Given the description of an element on the screen output the (x, y) to click on. 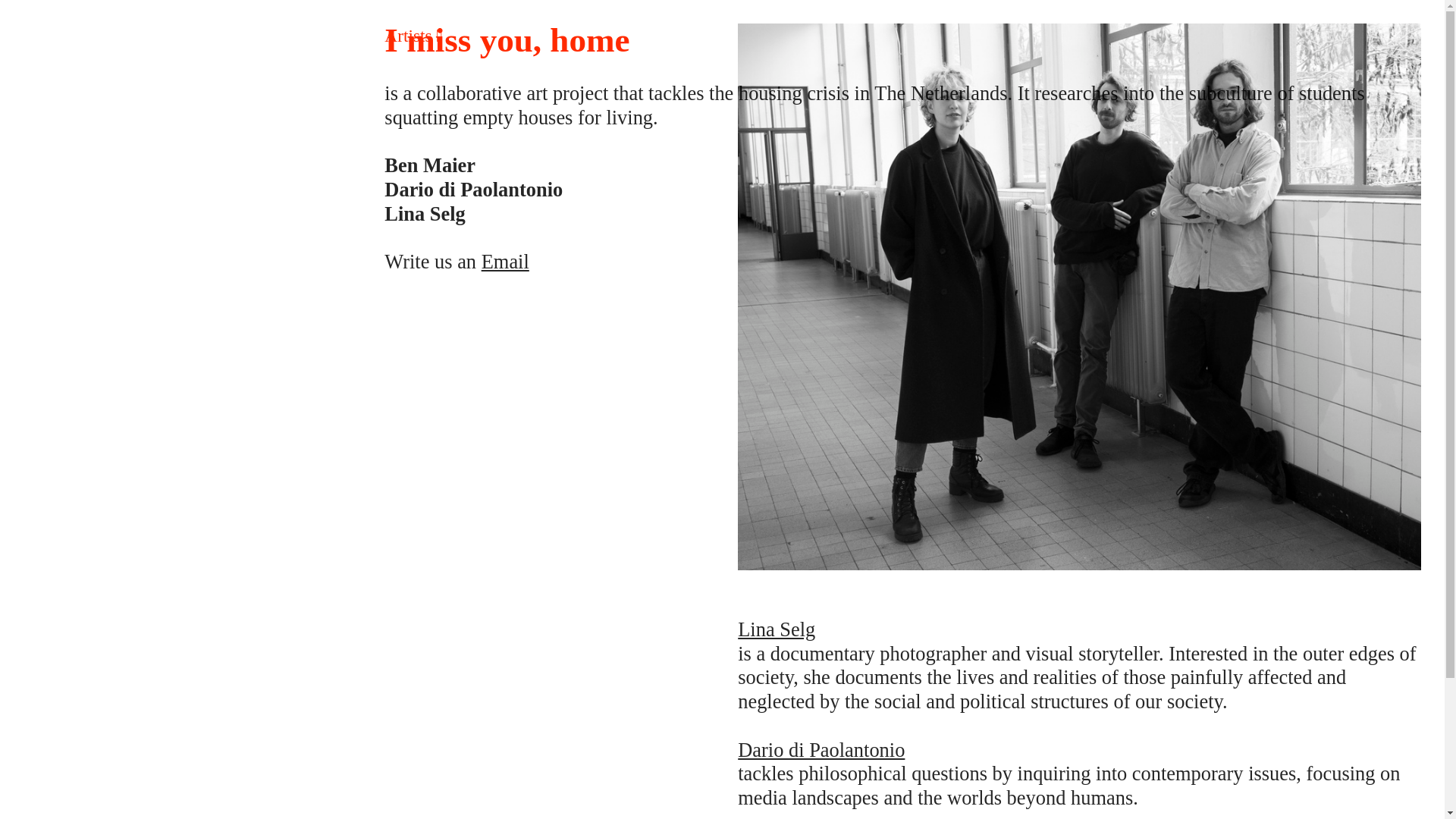
Lina Selg (776, 629)
Dario di Paolantonio (821, 749)
Email (505, 261)
